Given the description of an element on the screen output the (x, y) to click on. 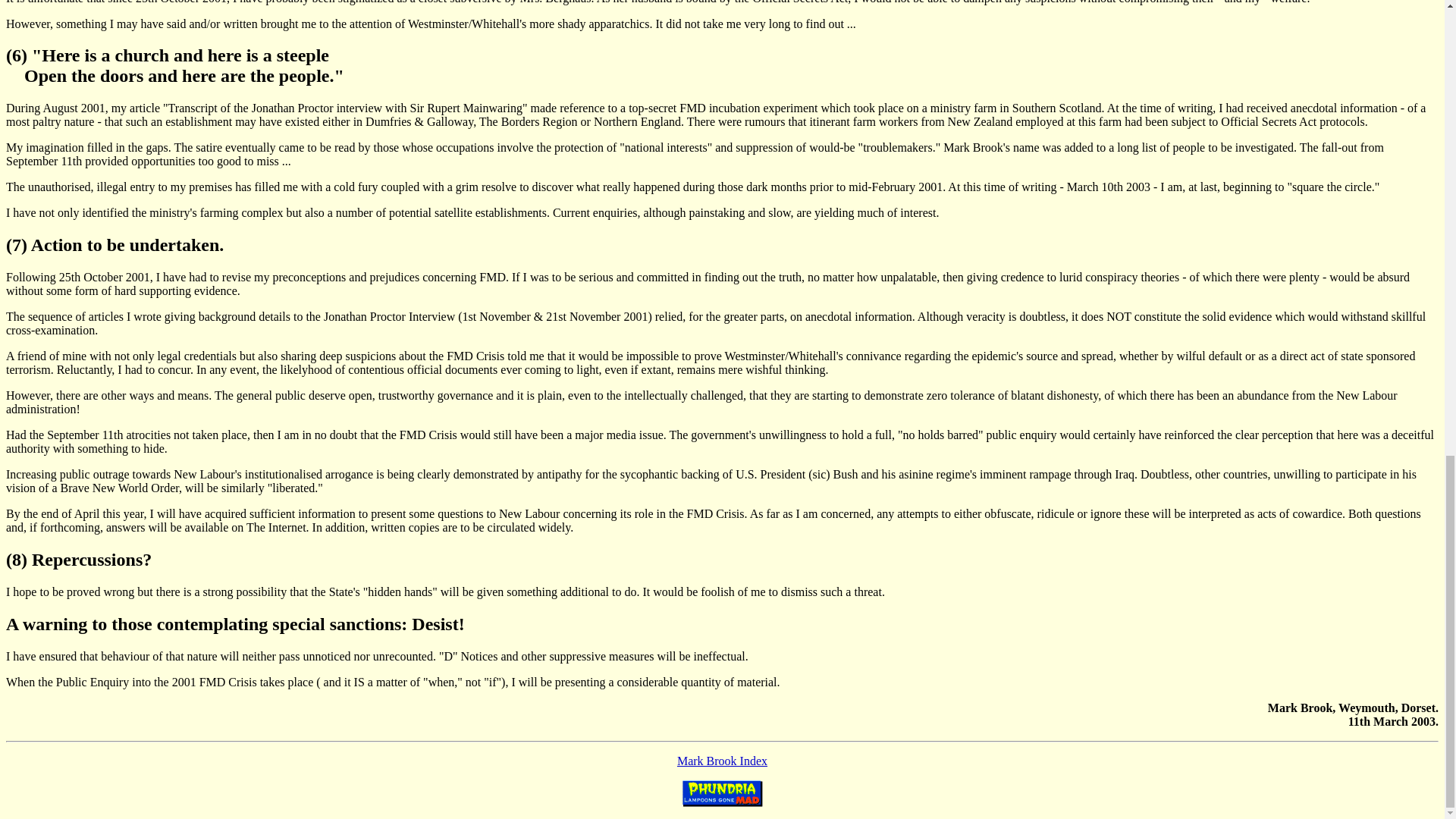
Mark Brook Index (722, 760)
